Given the description of an element on the screen output the (x, y) to click on. 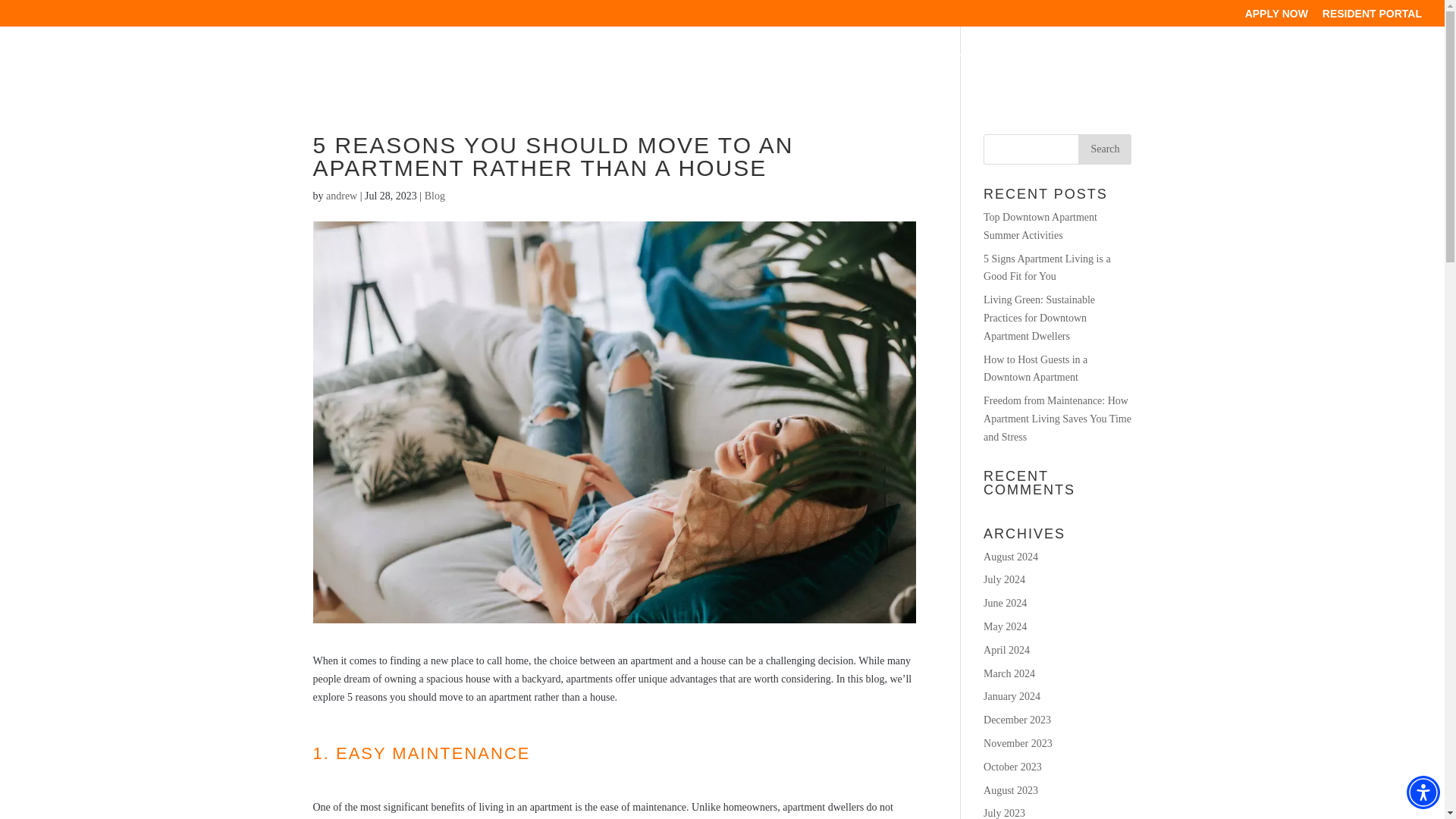
andrew (341, 195)
GALLERY (1195, 71)
RESIDENT PORTAL (1372, 16)
July 2024 (1004, 579)
Blog (435, 195)
AVAILABILITY (936, 71)
August 2024 (1011, 556)
5 Signs Apartment Living is a Good Fit for You (1047, 267)
